Given the description of an element on the screen output the (x, y) to click on. 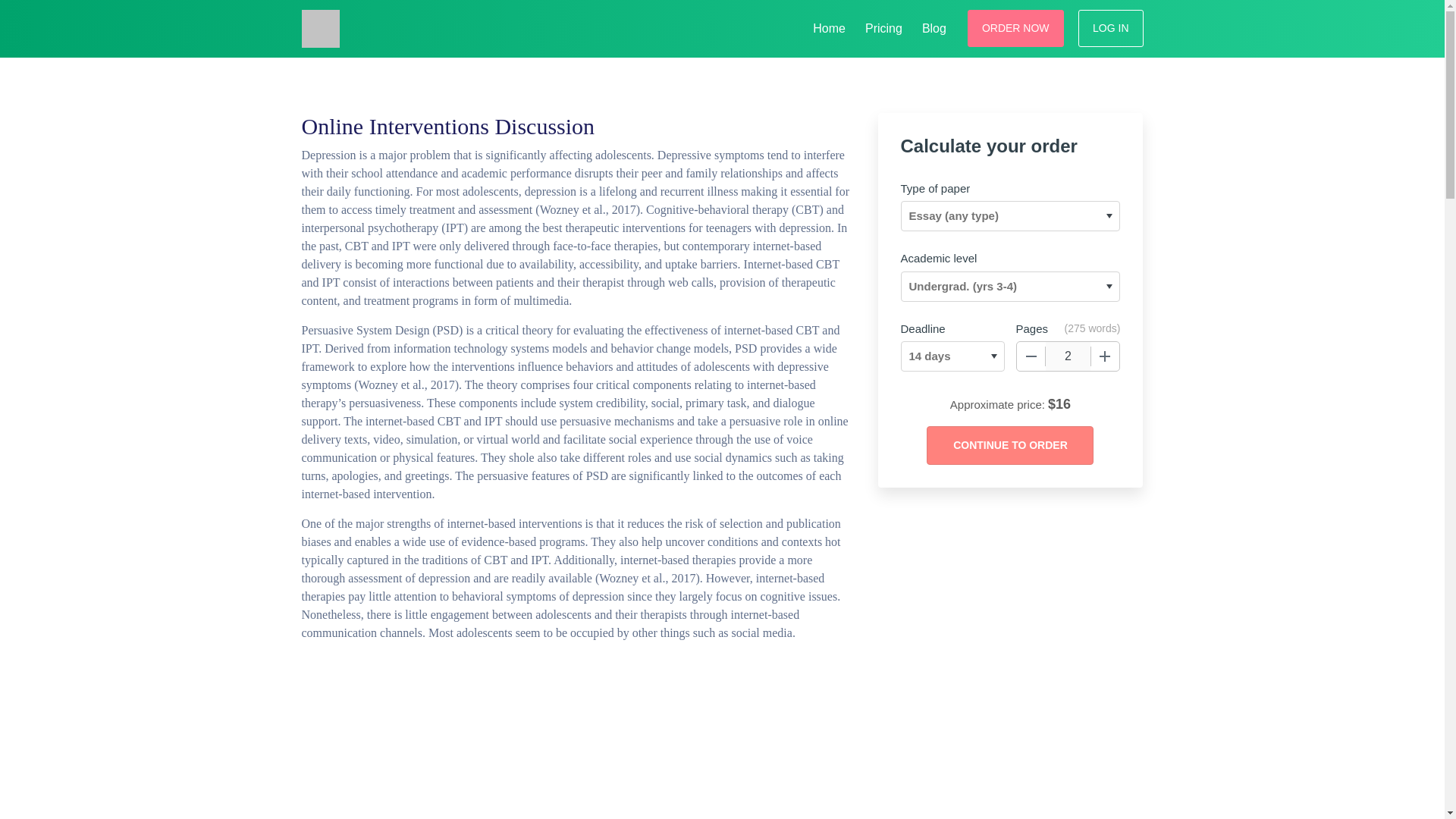
Decrease (1030, 356)
2 (1067, 356)
Increase (1104, 356)
Home (828, 26)
Blog (933, 26)
Home (828, 26)
LOG IN (1110, 27)
Pricing (883, 26)
Continue to order (1009, 445)
Blog (933, 26)
